Given the description of an element on the screen output the (x, y) to click on. 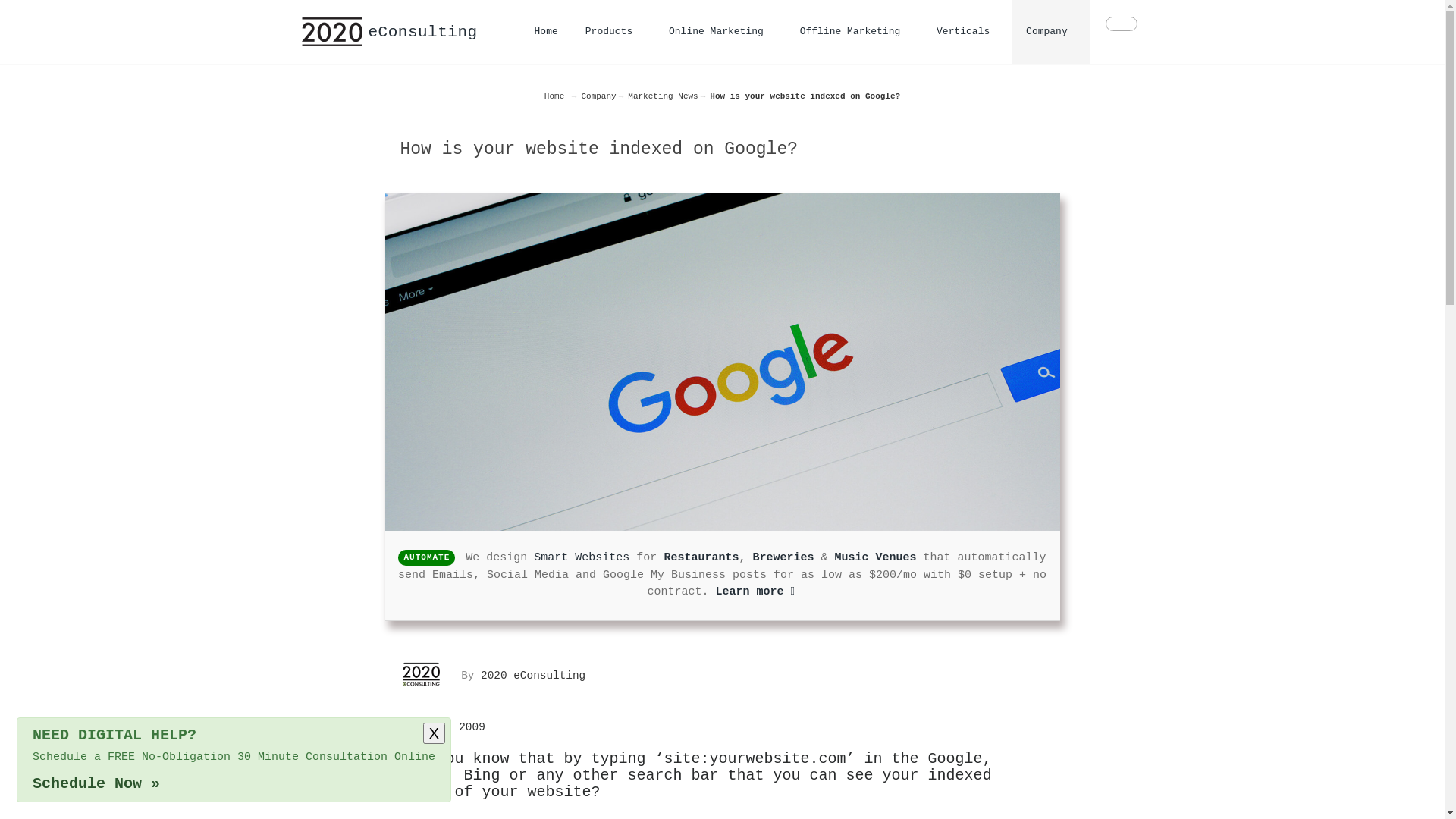
Verticals Element type: text (967, 31)
How is your website indexed on Google? Element type: hover (722, 361)
Home Element type: text (546, 31)
Online Marketing Element type: text (720, 31)
Marketing News Element type: text (662, 95)
X Element type: text (434, 732)
Company Element type: text (1050, 31)
2020 eConsulting Element type: hover (421, 674)
eConsulting Element type: text (389, 31)
Company Element type: text (597, 95)
Products Element type: text (613, 31)
Offline Marketing Element type: text (854, 31)
How is your website indexed on Google? Element type: text (804, 95)
Contact 2020 eConsulting Element type: hover (1121, 23)
Home Element type: text (554, 95)
? Element type: text (43, 775)
